Given the description of an element on the screen output the (x, y) to click on. 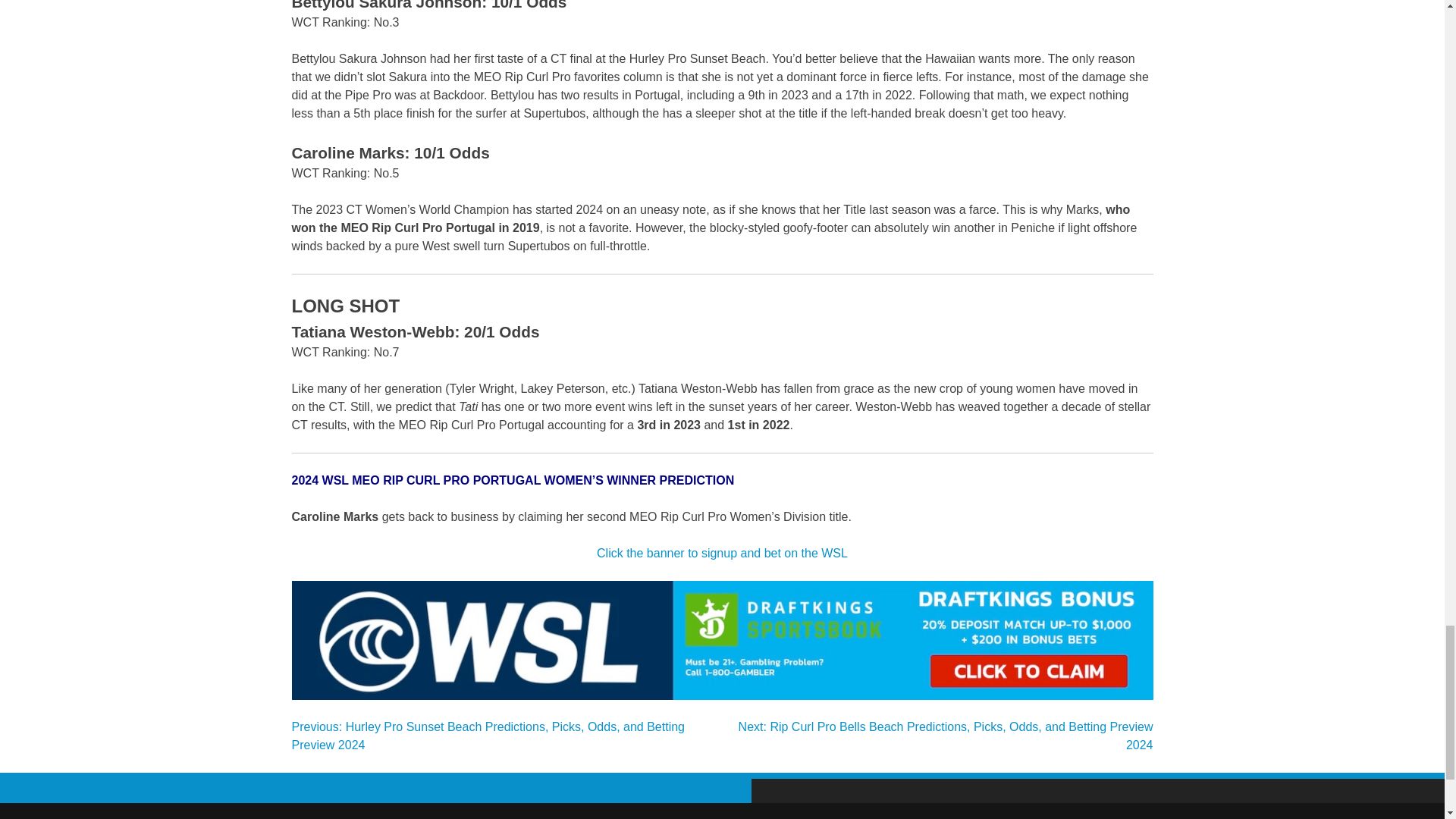
Click the banner to signup and bet on the WSL (721, 553)
